Given the description of an element on the screen output the (x, y) to click on. 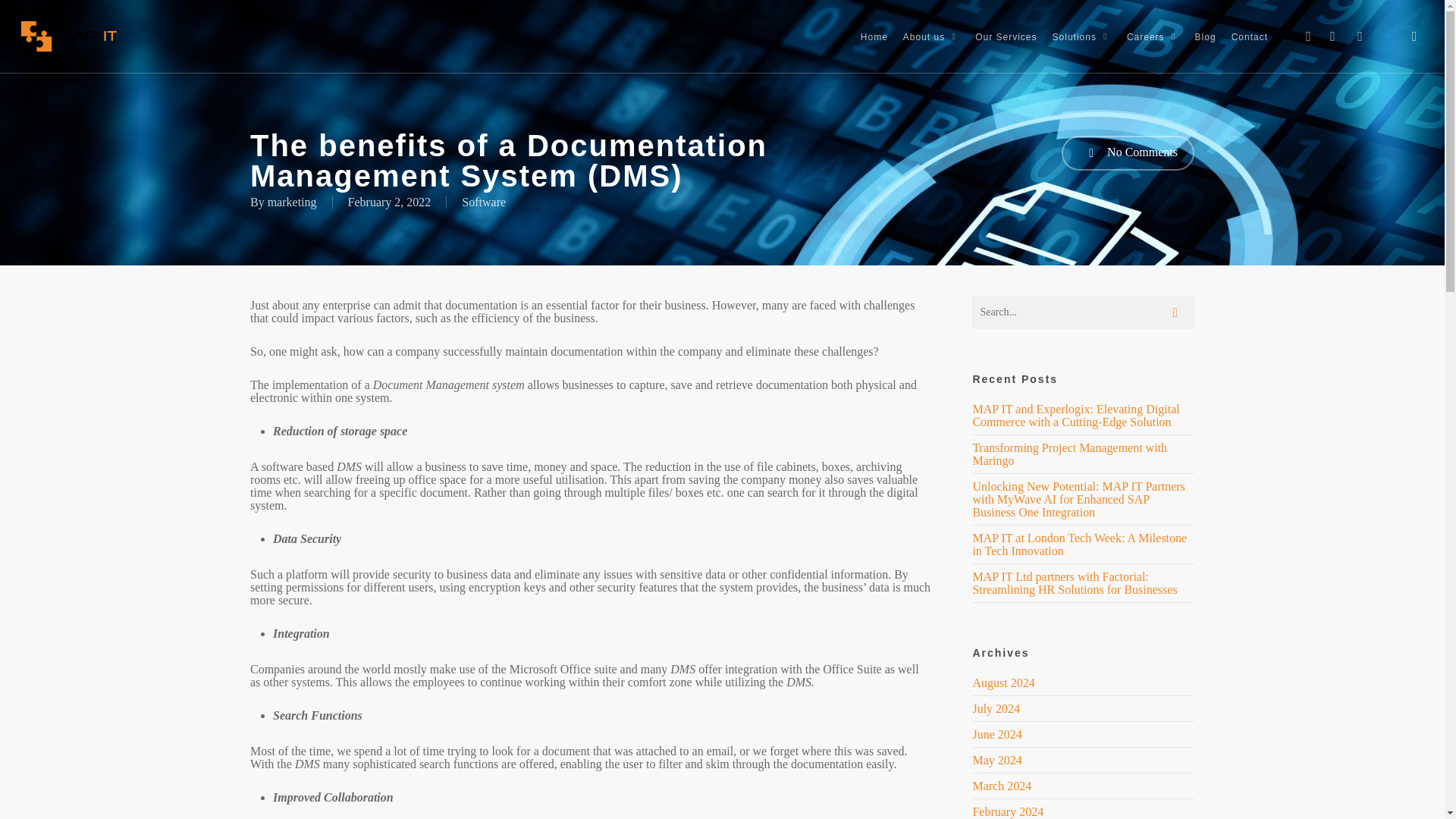
About us (931, 36)
Home (874, 35)
Search for: (1082, 312)
Posts by marketing (292, 201)
Search for: (962, 602)
Solutions (1082, 36)
Our Services (1005, 35)
